Given the description of an element on the screen output the (x, y) to click on. 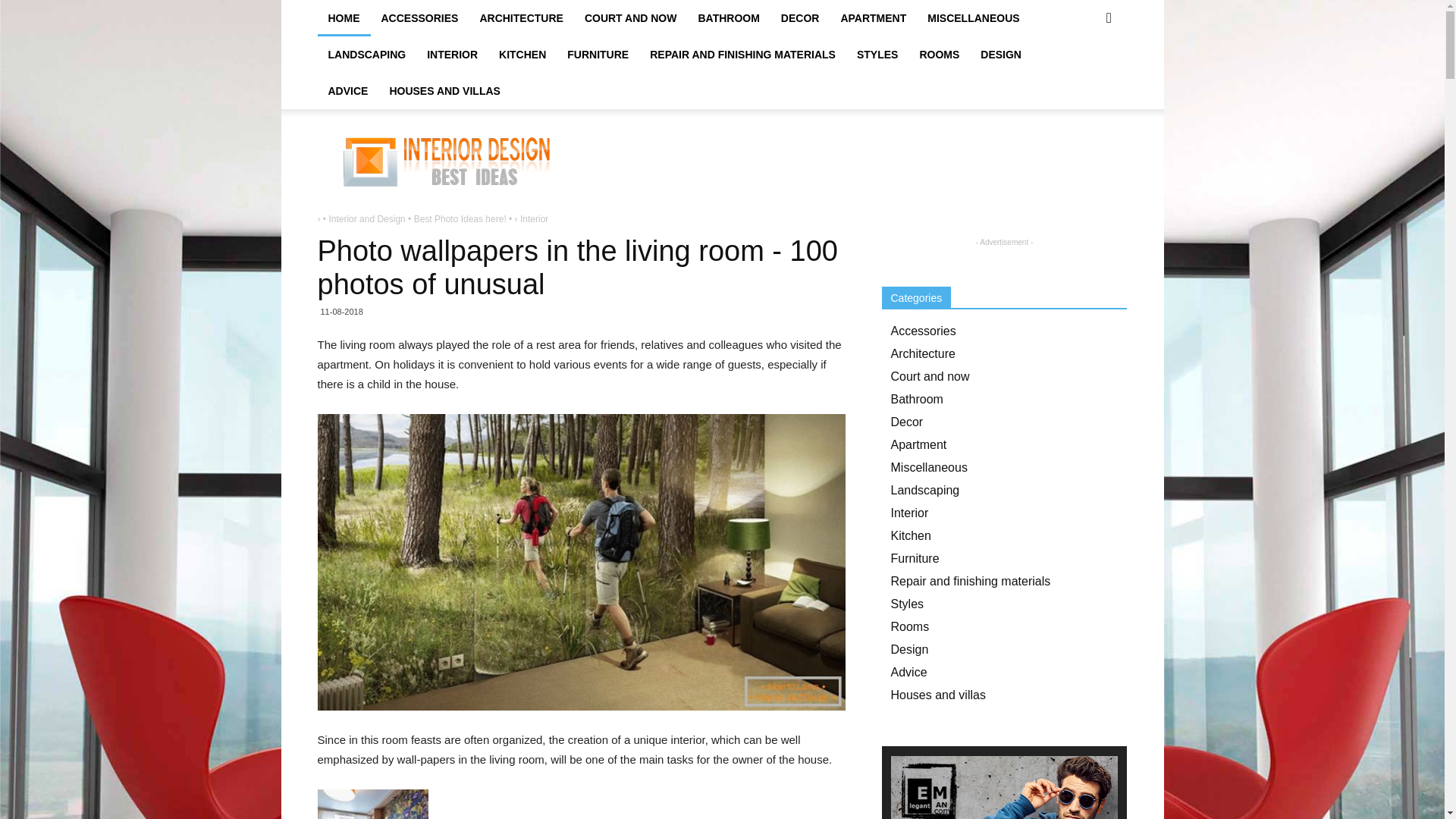
REPAIR AND FINISHING MATERIALS (742, 54)
LANDSCAPING (366, 54)
MISCELLANEOUS (973, 18)
DECOR (799, 18)
COURT AND NOW (630, 18)
FURNITURE (597, 54)
ACCESSORIES (418, 18)
APARTMENT (873, 18)
BATHROOM (728, 18)
ARCHITECTURE (520, 18)
